Given the description of an element on the screen output the (x, y) to click on. 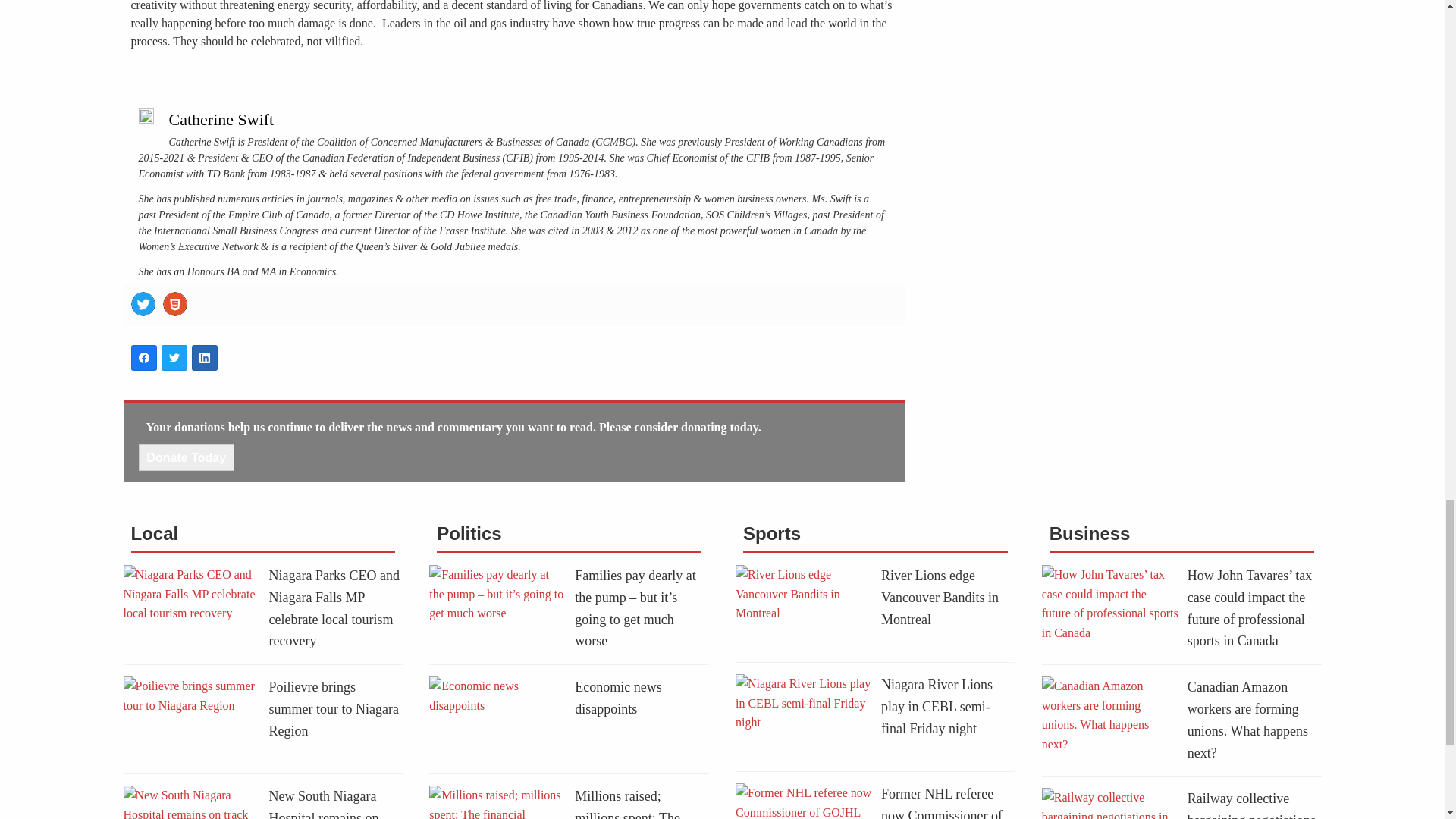
Poilievre brings summer tour to Niagara Region (332, 708)
Twitter (142, 303)
Html5 (173, 303)
Donate Today (186, 457)
Catherine Swift (220, 118)
